Given the description of an element on the screen output the (x, y) to click on. 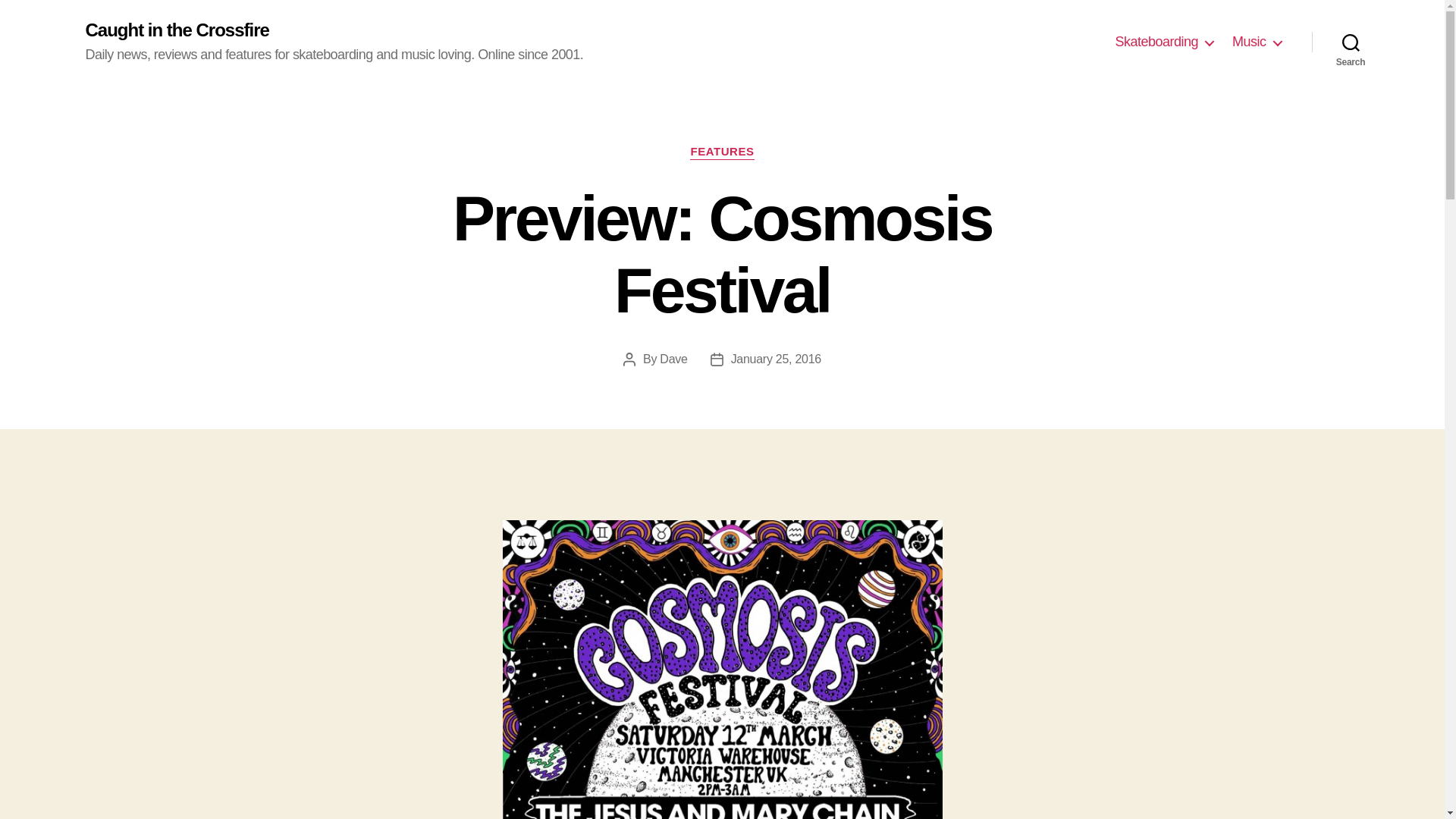
Music (1256, 42)
Skateboarding (1163, 42)
Caught in the Crossfire (175, 30)
Search (1350, 41)
